Given the description of an element on the screen output the (x, y) to click on. 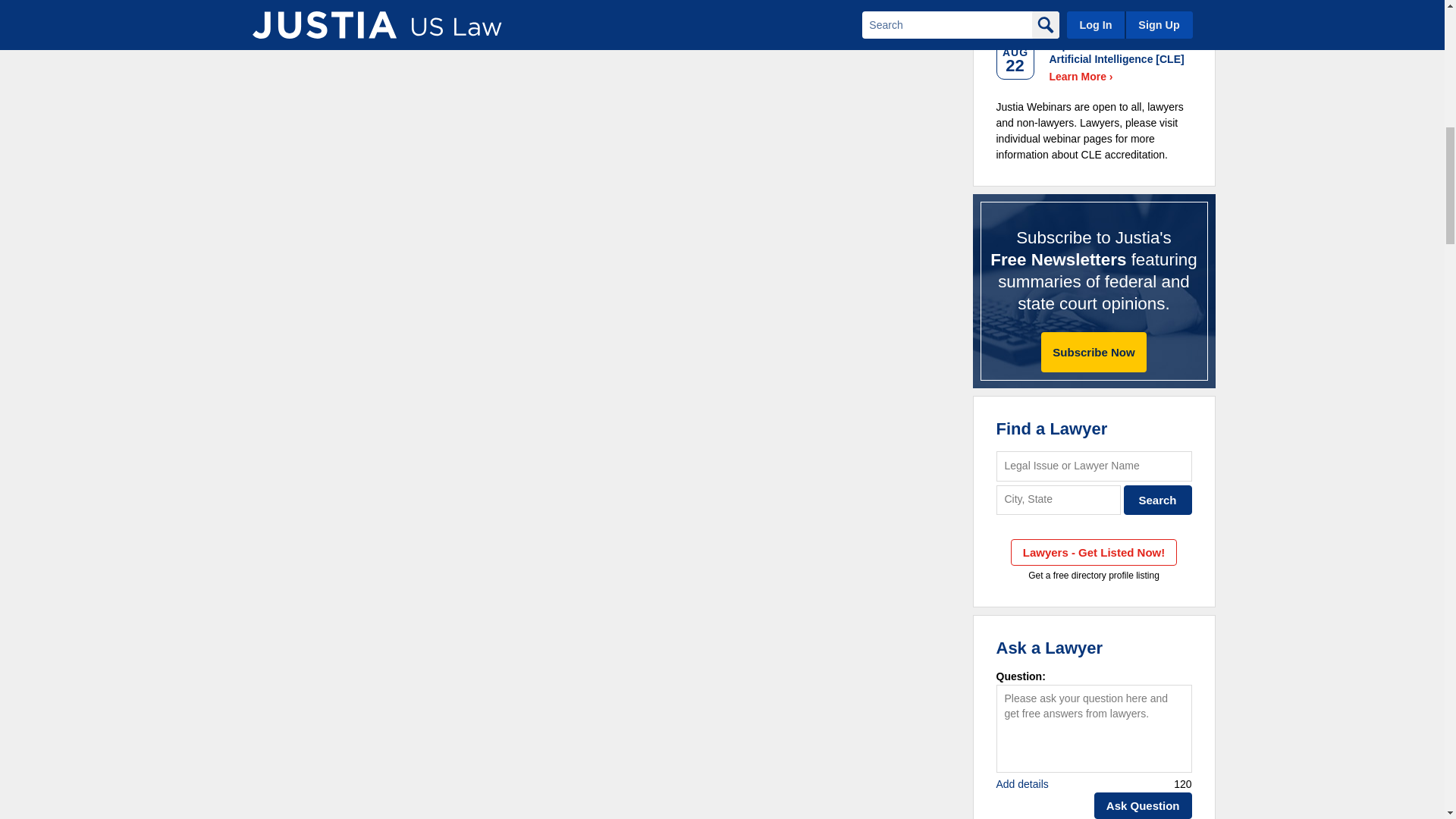
Legal Issue or Lawyer Name (1093, 465)
Search (1158, 500)
City, State (1058, 500)
Search (1158, 500)
